Given the description of an element on the screen output the (x, y) to click on. 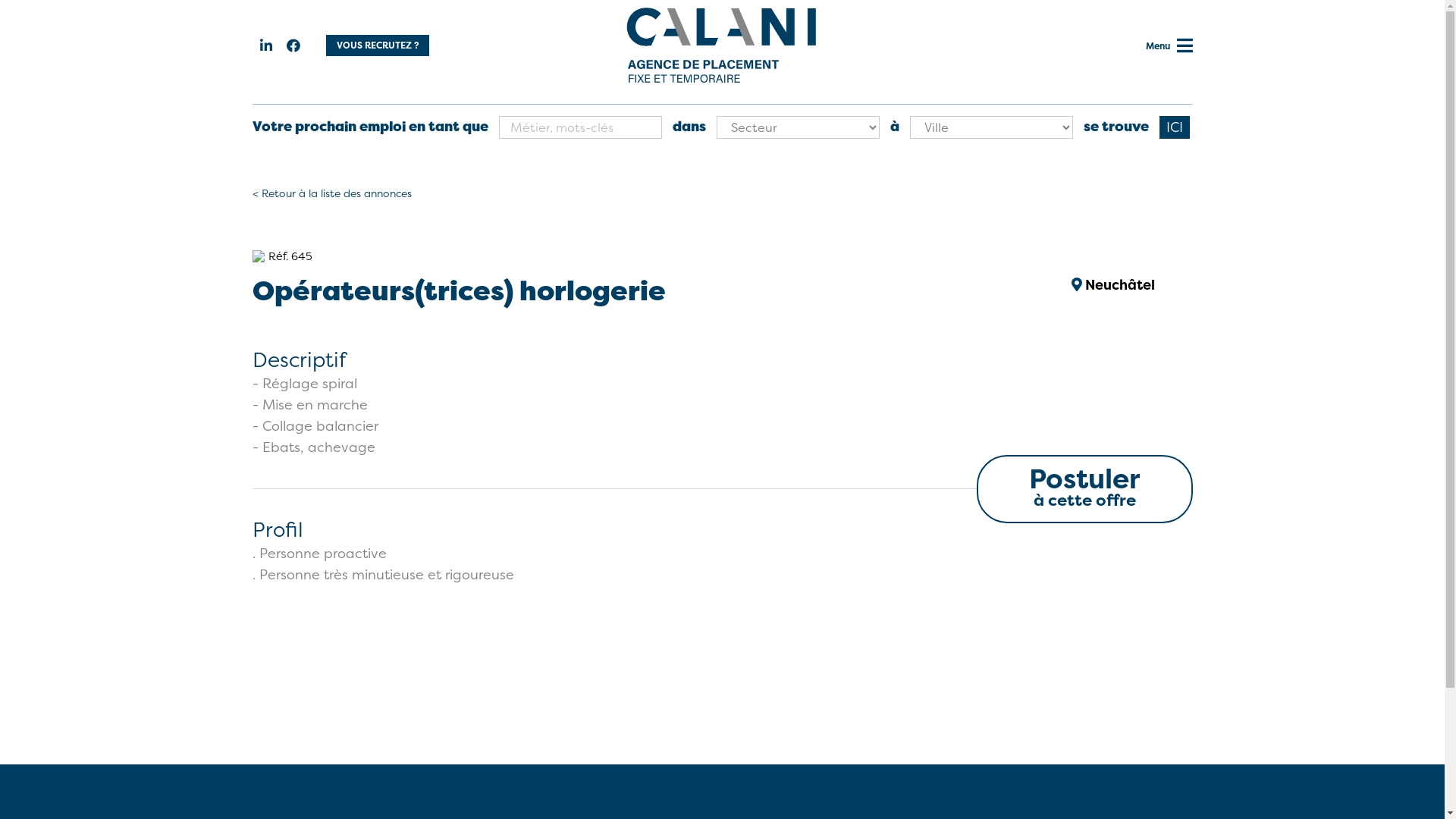
ICI Element type: text (1173, 127)
LinkedIn Element type: hover (265, 45)
Facebook Element type: hover (292, 45)
VOUS RECRUTEZ ? Element type: text (377, 45)
Menu    Element type: text (1184, 48)
